Given the description of an element on the screen output the (x, y) to click on. 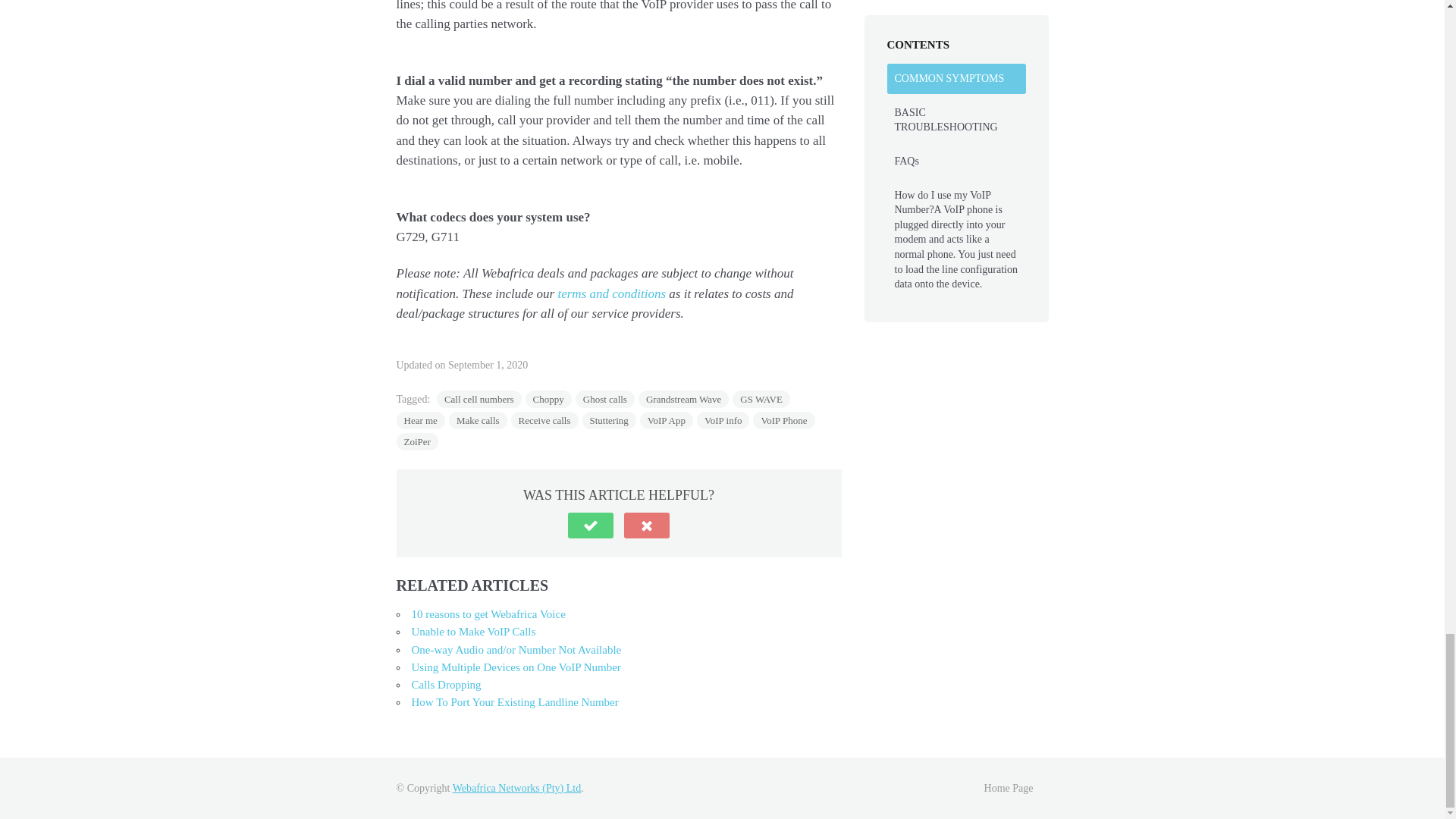
Calls Dropping (445, 684)
Grandstream Wave (684, 398)
10 reasons to get Webafrica Voice (487, 613)
Using Multiple Devices on One VoIP Number (515, 666)
VoIP Phone (782, 420)
VoIP info (723, 420)
Receive calls (544, 420)
Ghost calls (604, 398)
Home Page (1008, 787)
Stuttering (609, 420)
How To Port Your Existing Landline Number (513, 702)
Hear me (420, 420)
ZoiPer (417, 441)
VoIP App (666, 420)
Make calls (477, 420)
